Given the description of an element on the screen output the (x, y) to click on. 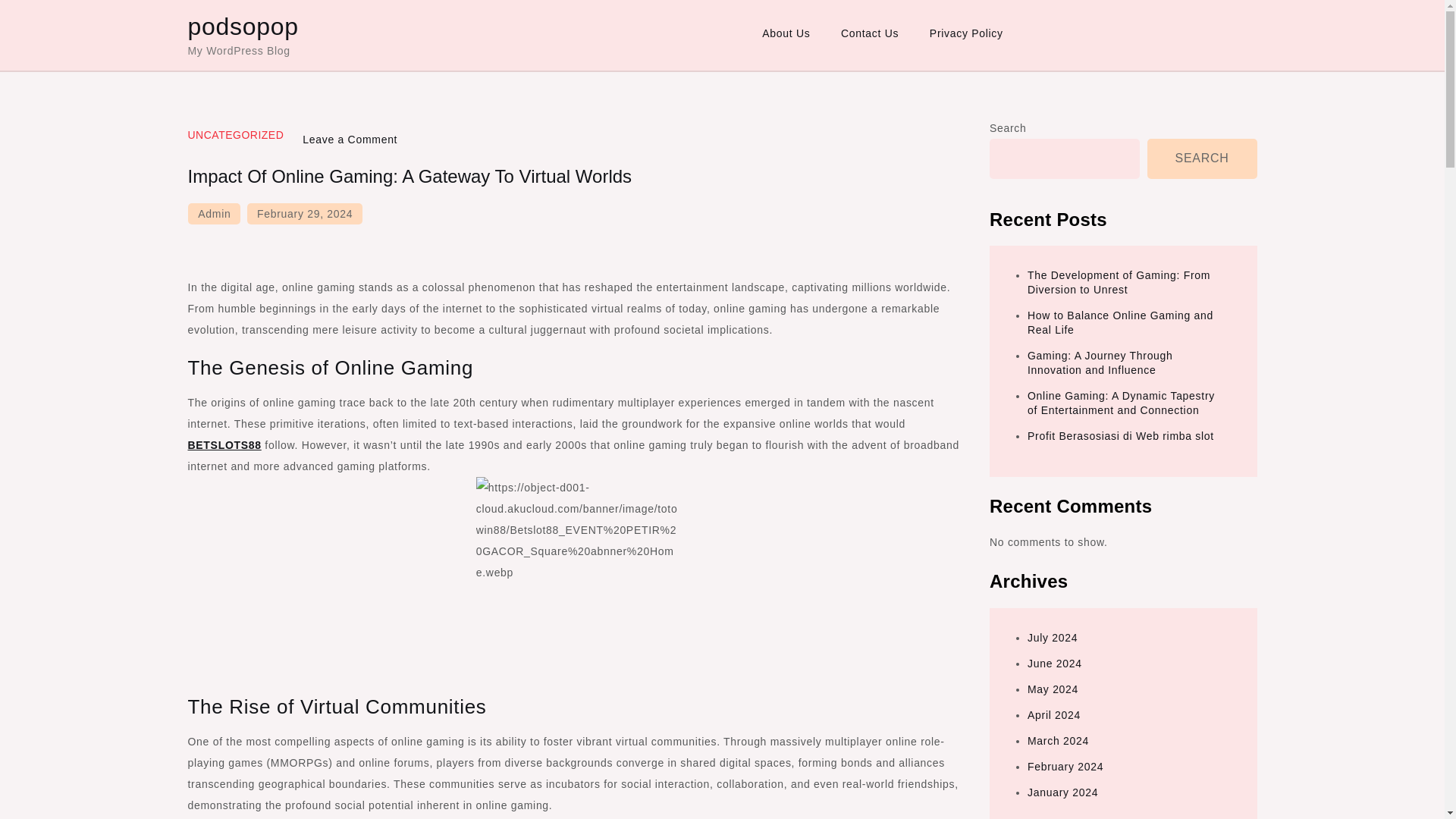
BETSLOTS88 (224, 444)
SEARCH (1202, 158)
The Development of Gaming: From Diversion to Unrest (1118, 282)
Admin (213, 213)
Profit Berasosiasi di Web rimba slot (1120, 435)
Gaming: A Journey Through Innovation and Influence (1100, 362)
February 29, 2024 (304, 213)
Privacy Policy (965, 33)
How to Balance Online Gaming and Real Life (1119, 322)
UNCATEGORIZED (235, 134)
May 2024 (1052, 689)
April 2024 (1053, 715)
About Us (786, 33)
March 2024 (1058, 740)
January 2024 (1062, 792)
